Given the description of an element on the screen output the (x, y) to click on. 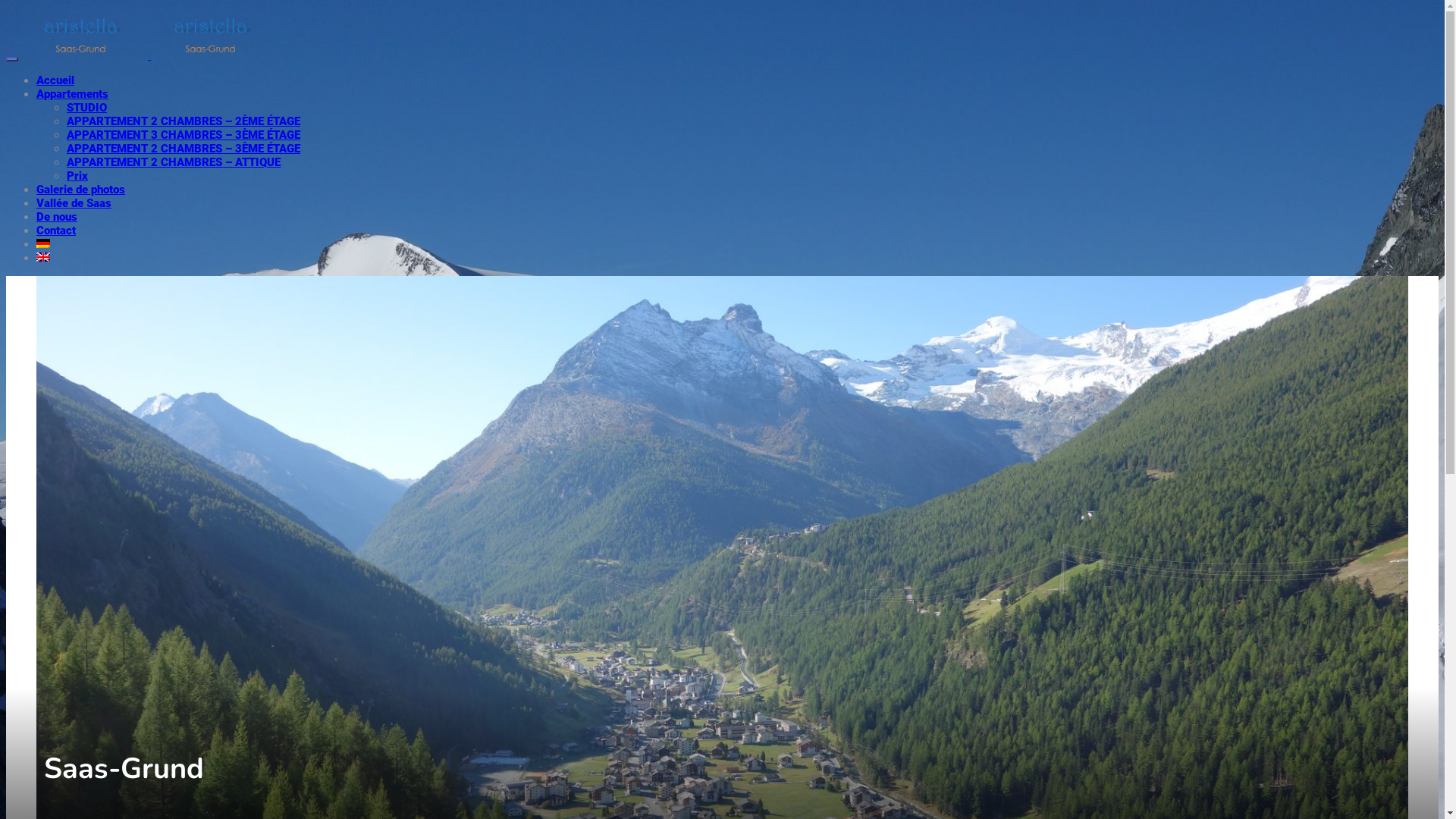
Prix Element type: text (76, 175)
De nous Element type: text (56, 216)
STUDIO Element type: text (86, 107)
Contact Element type: text (55, 230)
Accueil Element type: text (55, 80)
Galerie de photos Element type: text (80, 189)
Appartements Element type: text (72, 93)
